Given the description of an element on the screen output the (x, y) to click on. 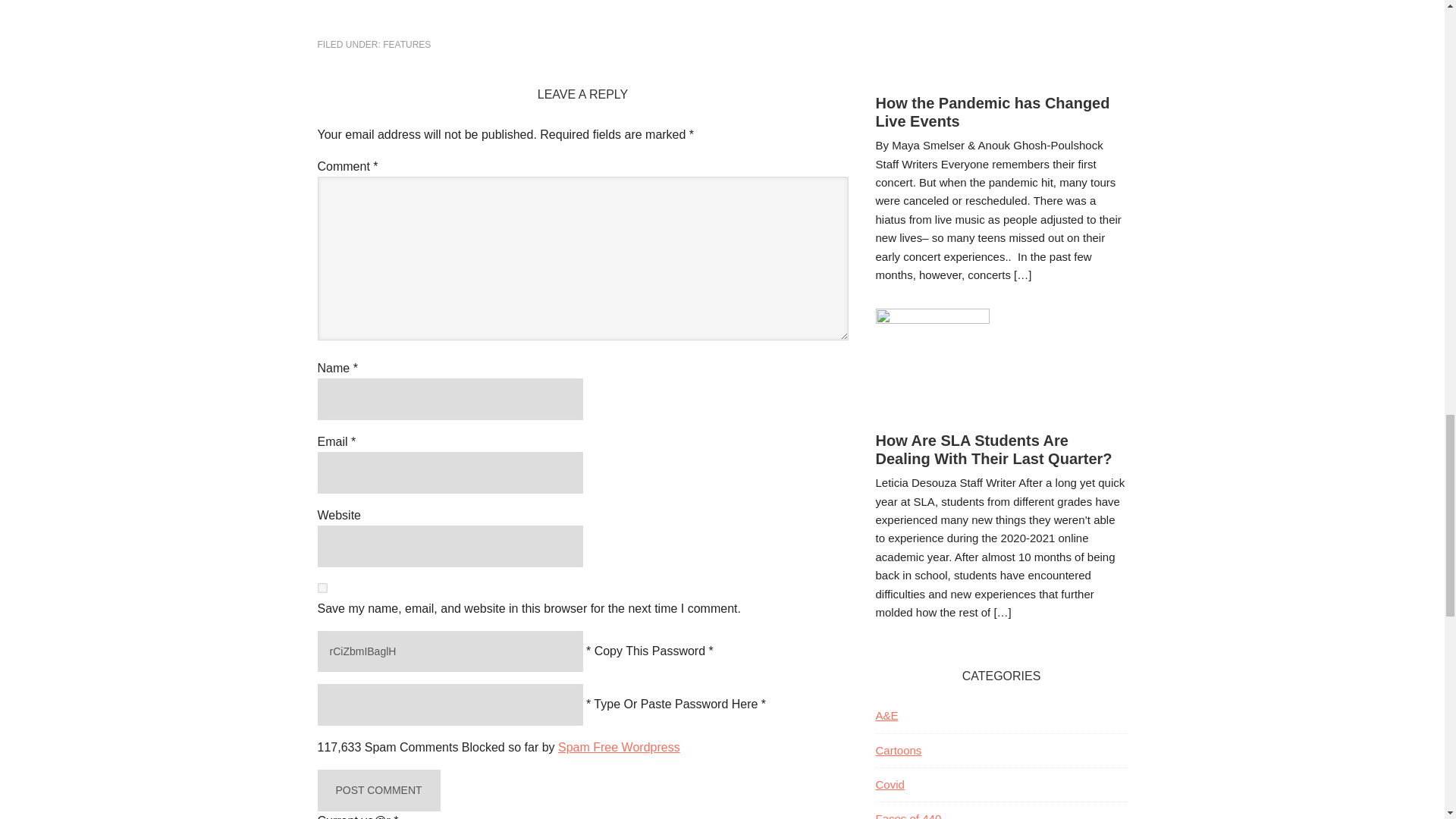
Faces of 440 (907, 815)
Spam Free Wordpress (618, 747)
FEATURES (406, 44)
Covid (889, 784)
Post Comment (378, 790)
Cartoons (898, 749)
Spam Free Wordpress (618, 747)
How Are SLA Students Are Dealing With Their Last Quarter? (993, 449)
Post Comment (378, 790)
rCiZbmIBaglH (449, 651)
